Given the description of an element on the screen output the (x, y) to click on. 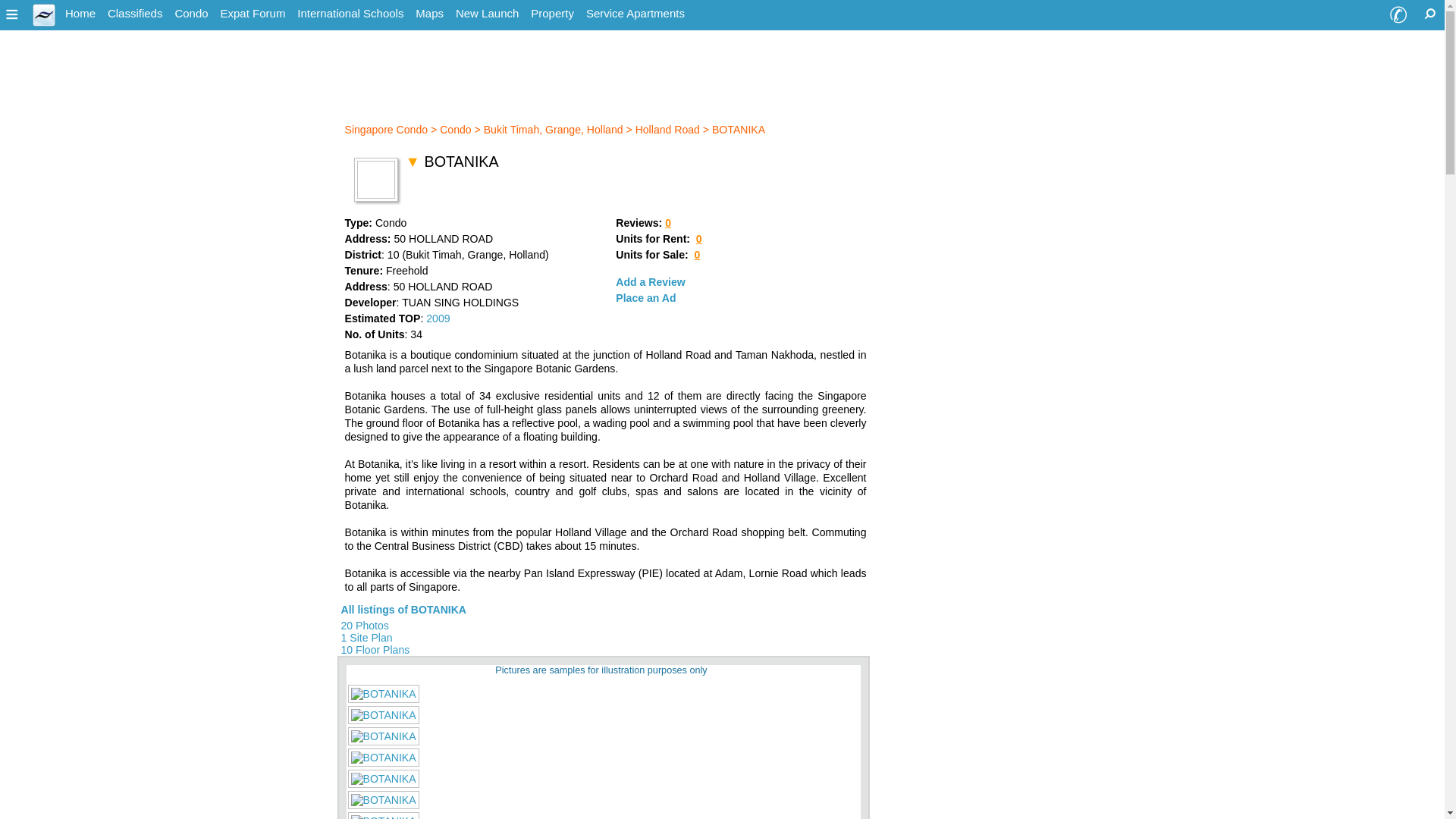
Singapore International Schools (349, 13)
Property (551, 13)
Singapore Expats Forum (252, 13)
Singapore Classified Ads (135, 13)
Service Apartments (634, 13)
Classifieds (135, 13)
Singapore Expats (80, 13)
New Property Launch (486, 13)
International Schools (349, 13)
Singapore Property (551, 13)
